Given the description of an element on the screen output the (x, y) to click on. 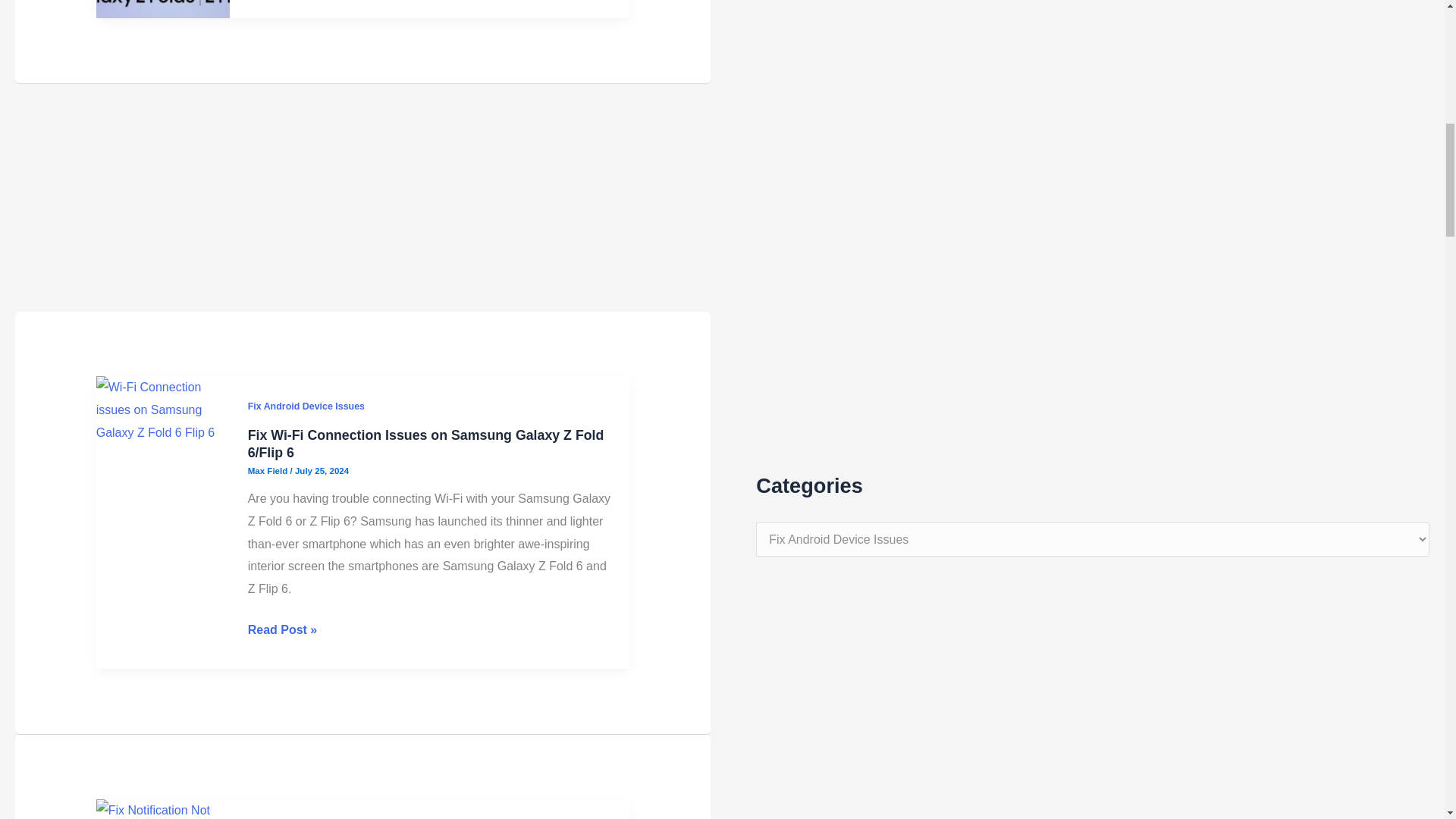
View all posts by Max Field (268, 4)
View all posts by Max Field (268, 788)
View all posts by Max Field (268, 410)
